Given the description of an element on the screen output the (x, y) to click on. 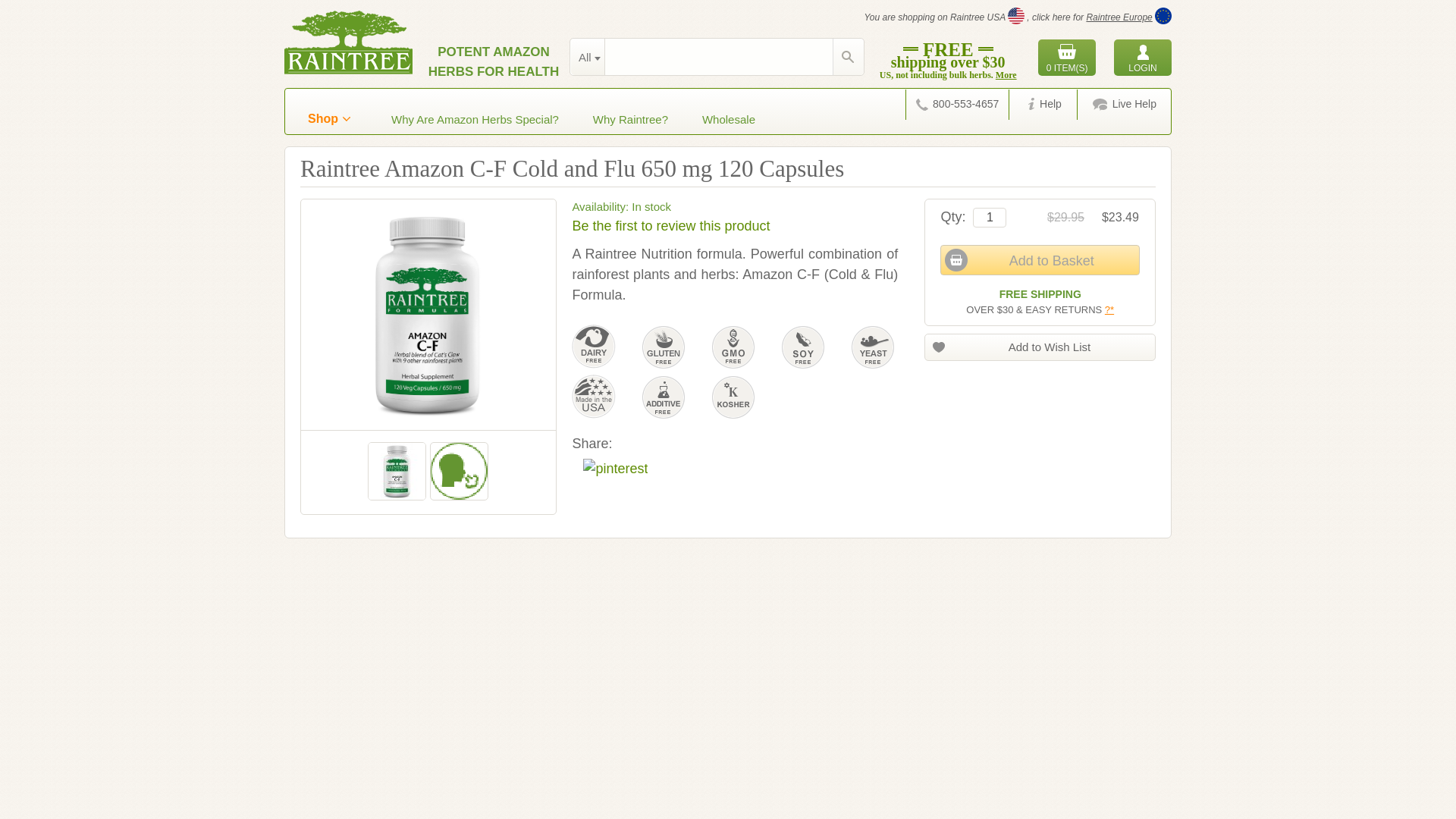
  Live Help (1124, 104)
Qty (989, 217)
Wholesale (728, 119)
1 (989, 217)
More (1005, 74)
Why Are Amazon Herbs Special? (475, 119)
  800-553-4657 (955, 104)
Shop (328, 118)
  LOGIN (1142, 57)
Add to Basket (1040, 259)
Why Raintree? (630, 119)
